Given the description of an element on the screen output the (x, y) to click on. 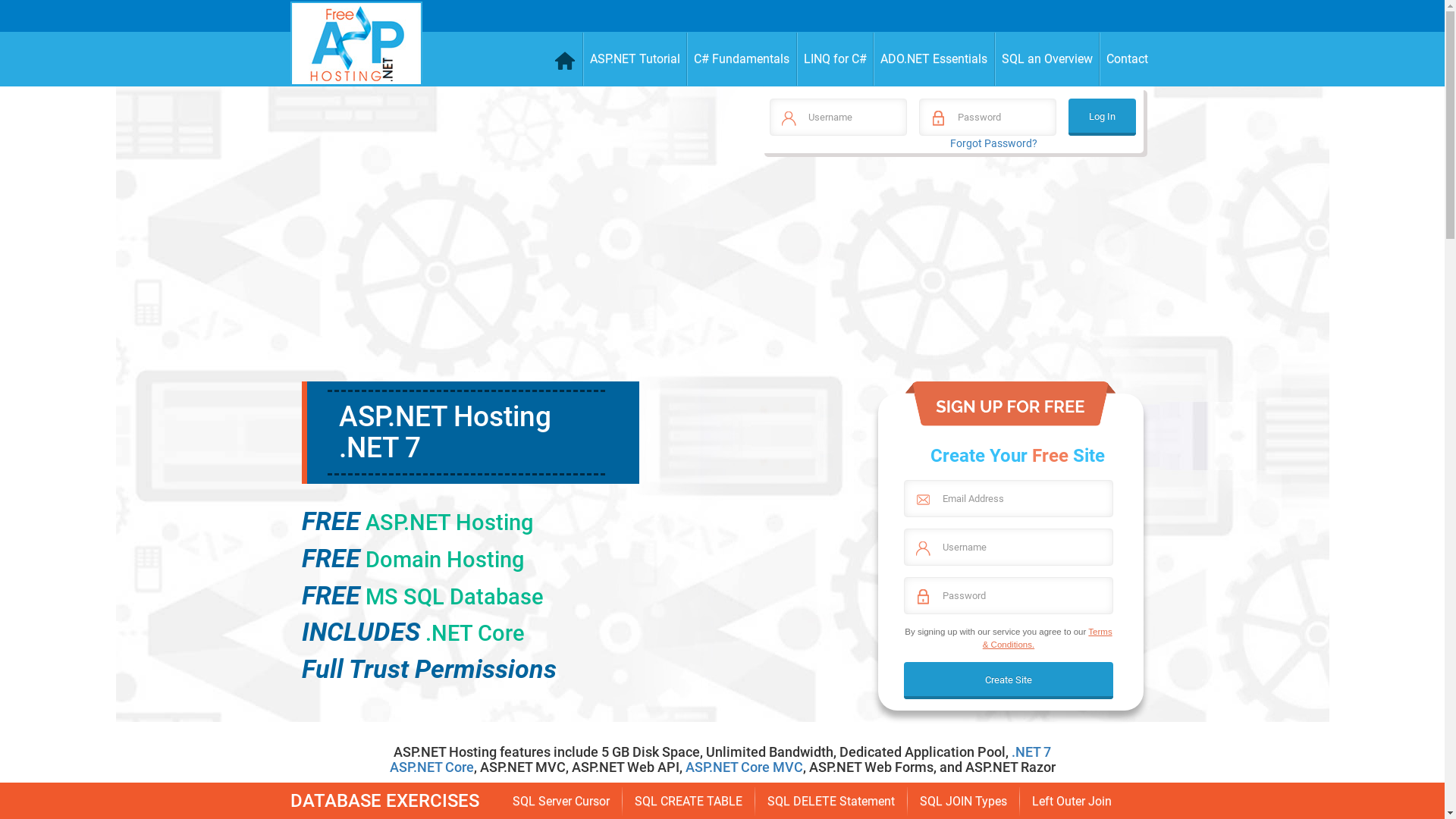
Contact Element type: text (1126, 58)
Forgot Password? Element type: text (993, 143)
.NET 7 Element type: text (1031, 751)
ASP.NET Tutorial Element type: text (634, 58)
ASP.NET Core Element type: text (431, 767)
LINQ for C# Element type: text (834, 58)
SQL an Overview Element type: text (1047, 58)
Terms & Conditions. Element type: text (1047, 637)
ASP.NET Core MVC Element type: text (744, 767)
Create Site Element type: text (1008, 680)
Check User Element type: text (30, 18)
C# Fundamentals Element type: text (742, 58)
Advertisement Element type: hover (950, 274)
ASP.NET Hosting .NET 7 Element type: text (444, 432)
Log In Element type: text (1101, 116)
ADO.NET Essentials Element type: text (933, 58)
